Given the description of an element on the screen output the (x, y) to click on. 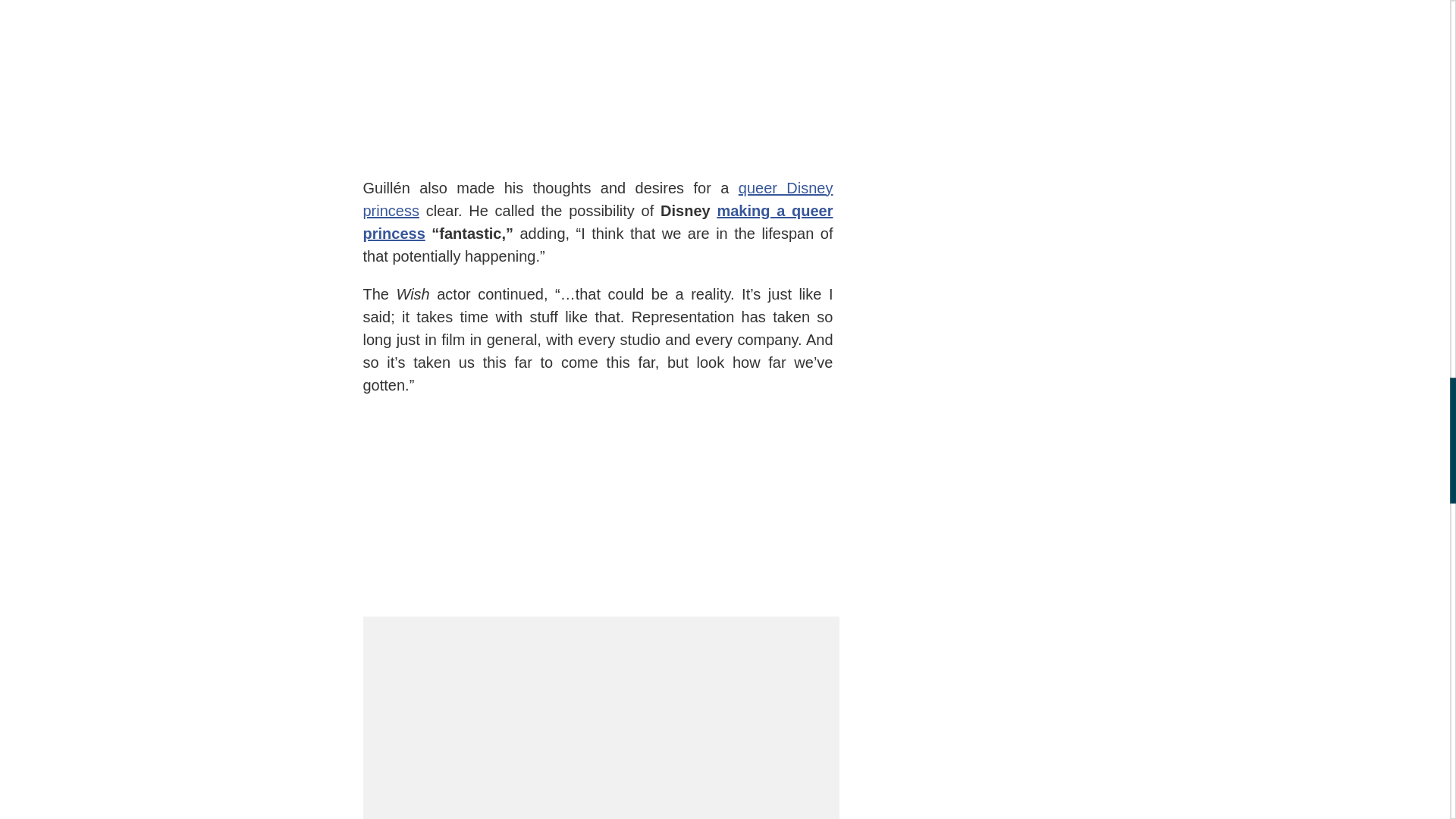
queer Disney princess (597, 198)
making a queer princess (597, 220)
